Given the description of an element on the screen output the (x, y) to click on. 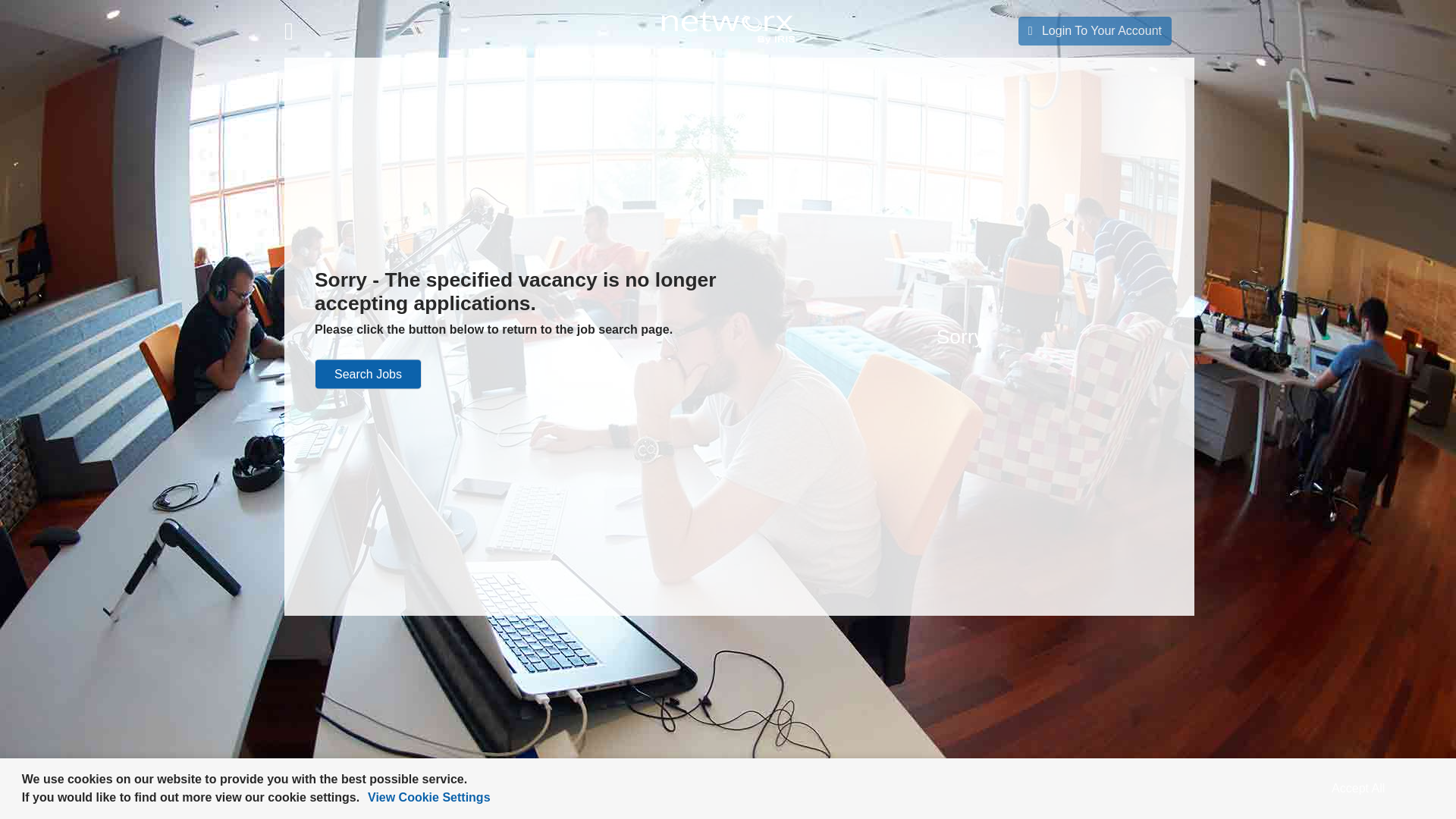
Client Login (316, 186)
My Applications (629, 157)
Recruitment Services (340, 100)
Find a Job (616, 71)
networx by iris white footer logo (1031, 73)
Request a Demo (329, 157)
Login To Your Account (1094, 30)
Accept All (1358, 788)
Search Jobs (368, 374)
networx by iris white header logo (727, 28)
